Given the description of an element on the screen output the (x, y) to click on. 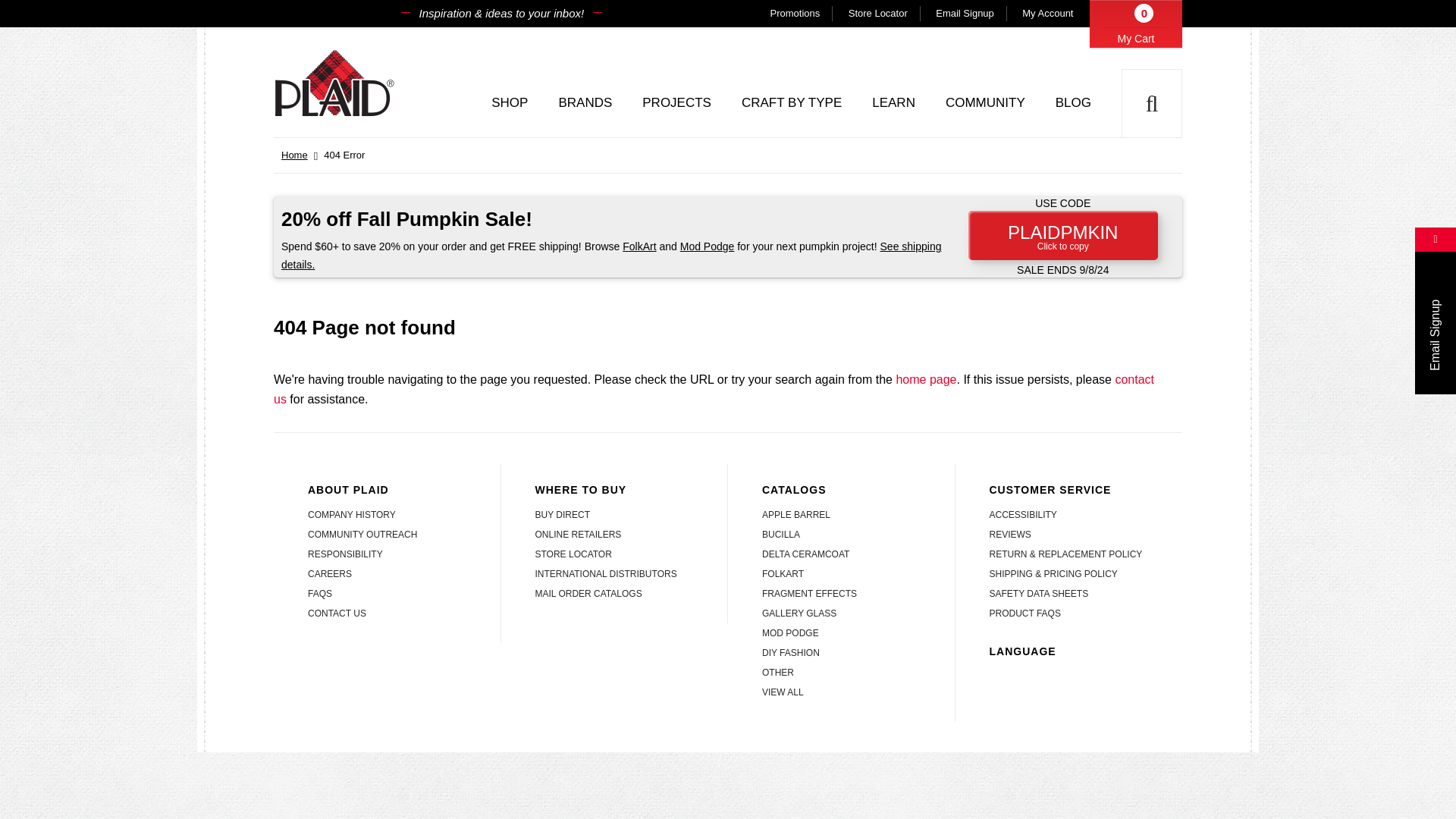
COMMUNITY (985, 102)
Store Locator (877, 13)
BLOG (1073, 102)
My Account (1047, 13)
Email Signup (965, 13)
PROJECTS (676, 102)
Promotions (795, 13)
